Given the description of an element on the screen output the (x, y) to click on. 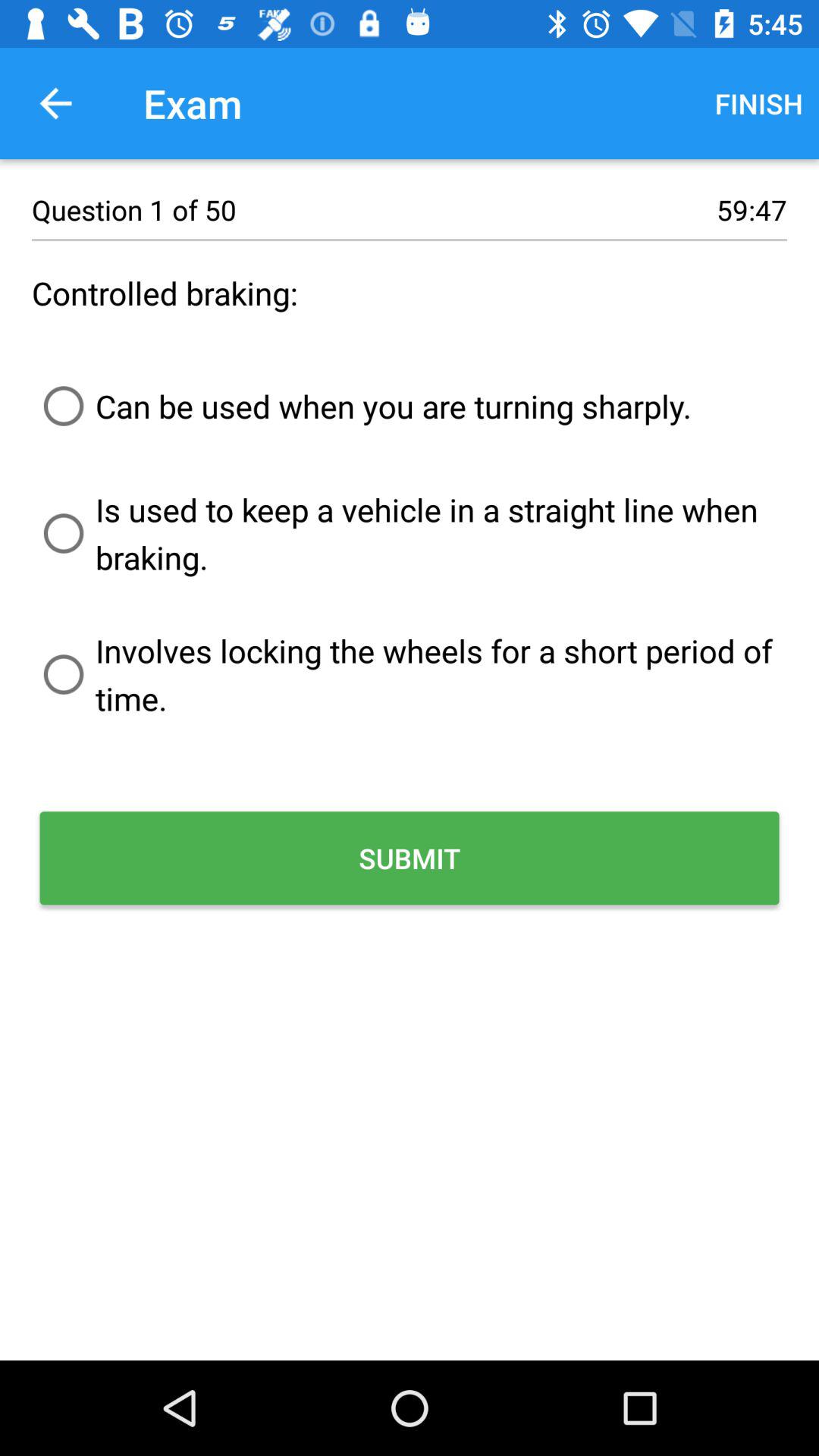
scroll until the submit icon (409, 857)
